Given the description of an element on the screen output the (x, y) to click on. 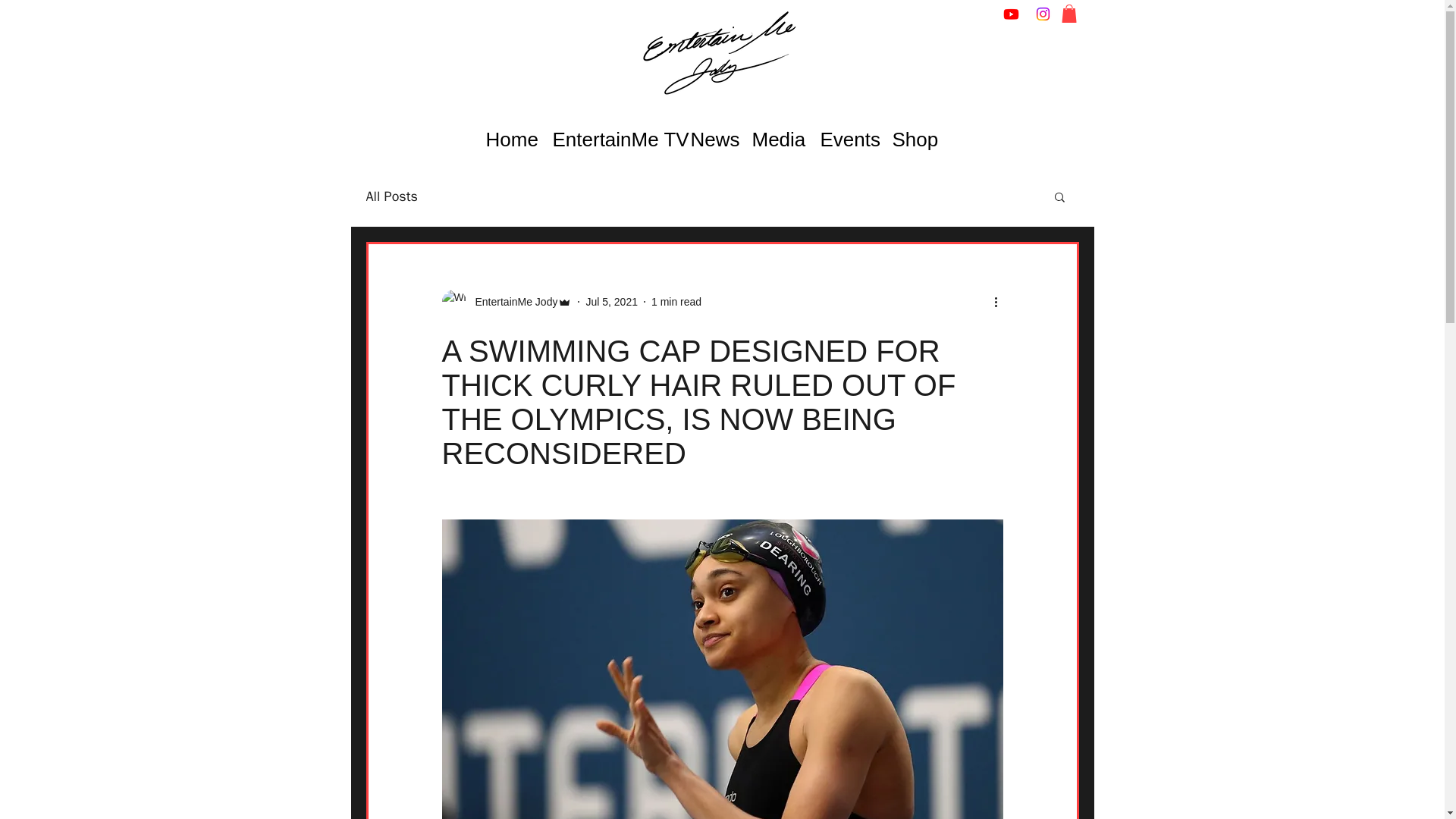
News (710, 139)
Home (507, 139)
Events (844, 139)
1 min read (675, 301)
All Posts (390, 196)
EntertainMe TV (610, 139)
Jul 5, 2021 (611, 301)
EntertainMe Jody (511, 302)
EntertainMe Jody (506, 301)
Shop (910, 139)
